Given the description of an element on the screen output the (x, y) to click on. 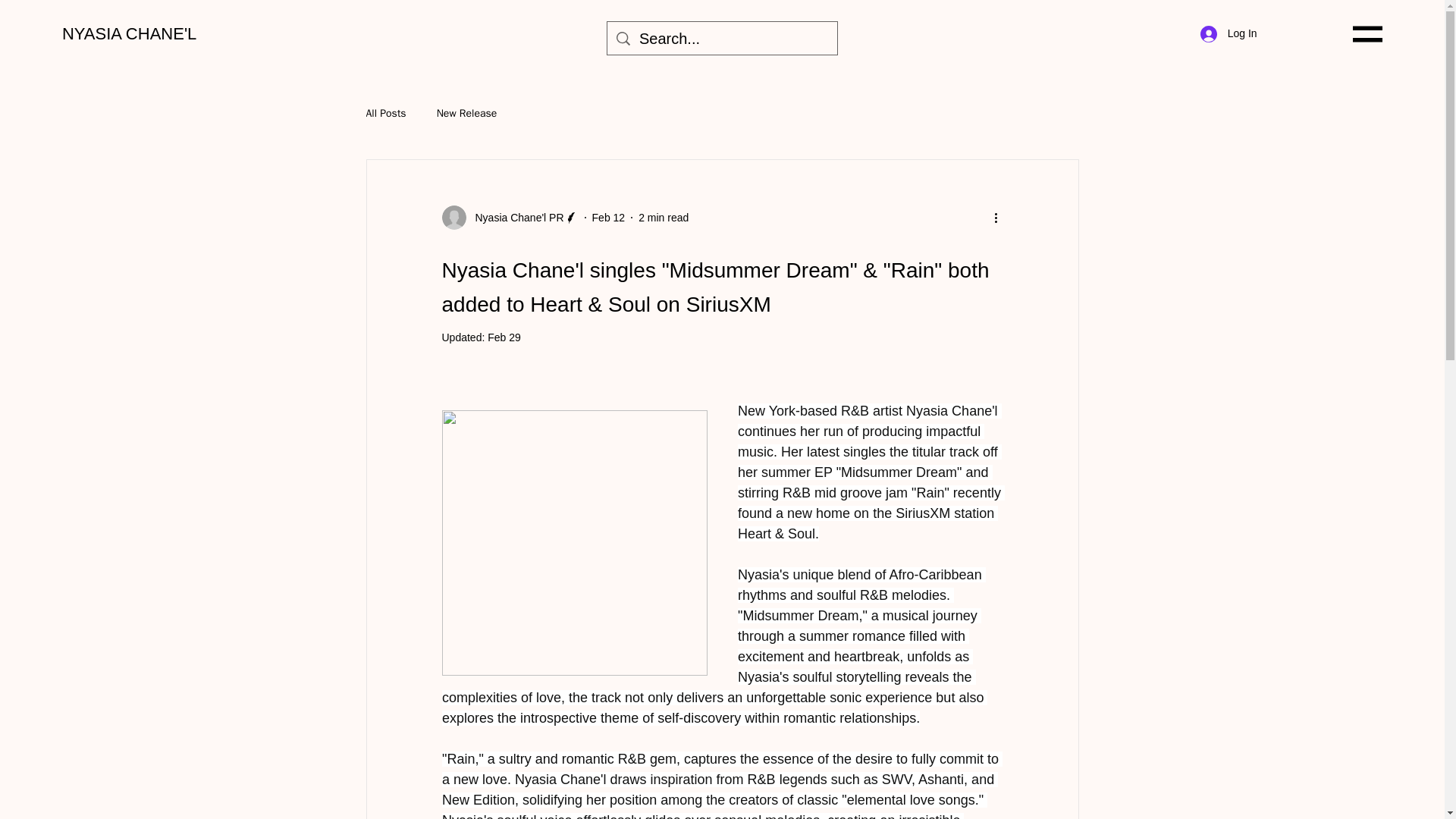
New Release (466, 113)
Log In (1228, 33)
All Posts (385, 113)
Feb 29 (504, 337)
Nyasia Chane'l PR (509, 217)
Feb 12 (609, 216)
Nyasia Chane'l PR  (514, 217)
2 min read (663, 216)
